Given the description of an element on the screen output the (x, y) to click on. 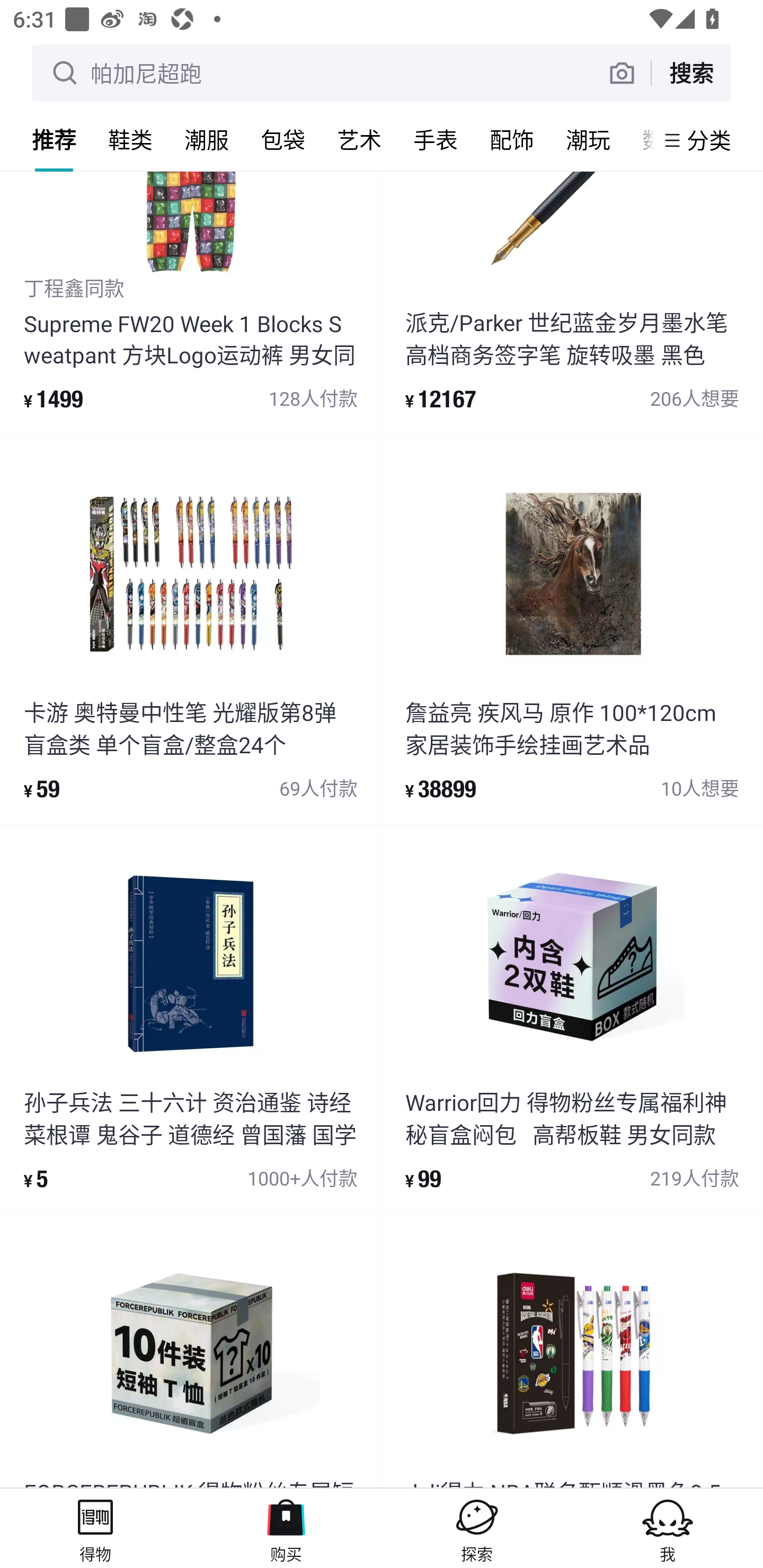
搜索 (690, 72)
推荐 (54, 139)
鞋类 (130, 139)
潮服 (206, 139)
包袋 (282, 139)
艺术 (359, 139)
手表 (435, 139)
配饰 (511, 139)
潮玩 (588, 139)
分类 (708, 139)
product_item FORCEREPUBLIK 得物粉丝专属短
袖T恤服装盲盒 夏季 男女同款 (190, 1351)
得物 (95, 1528)
购买 (285, 1528)
探索 (476, 1528)
我 (667, 1528)
